Given the description of an element on the screen output the (x, y) to click on. 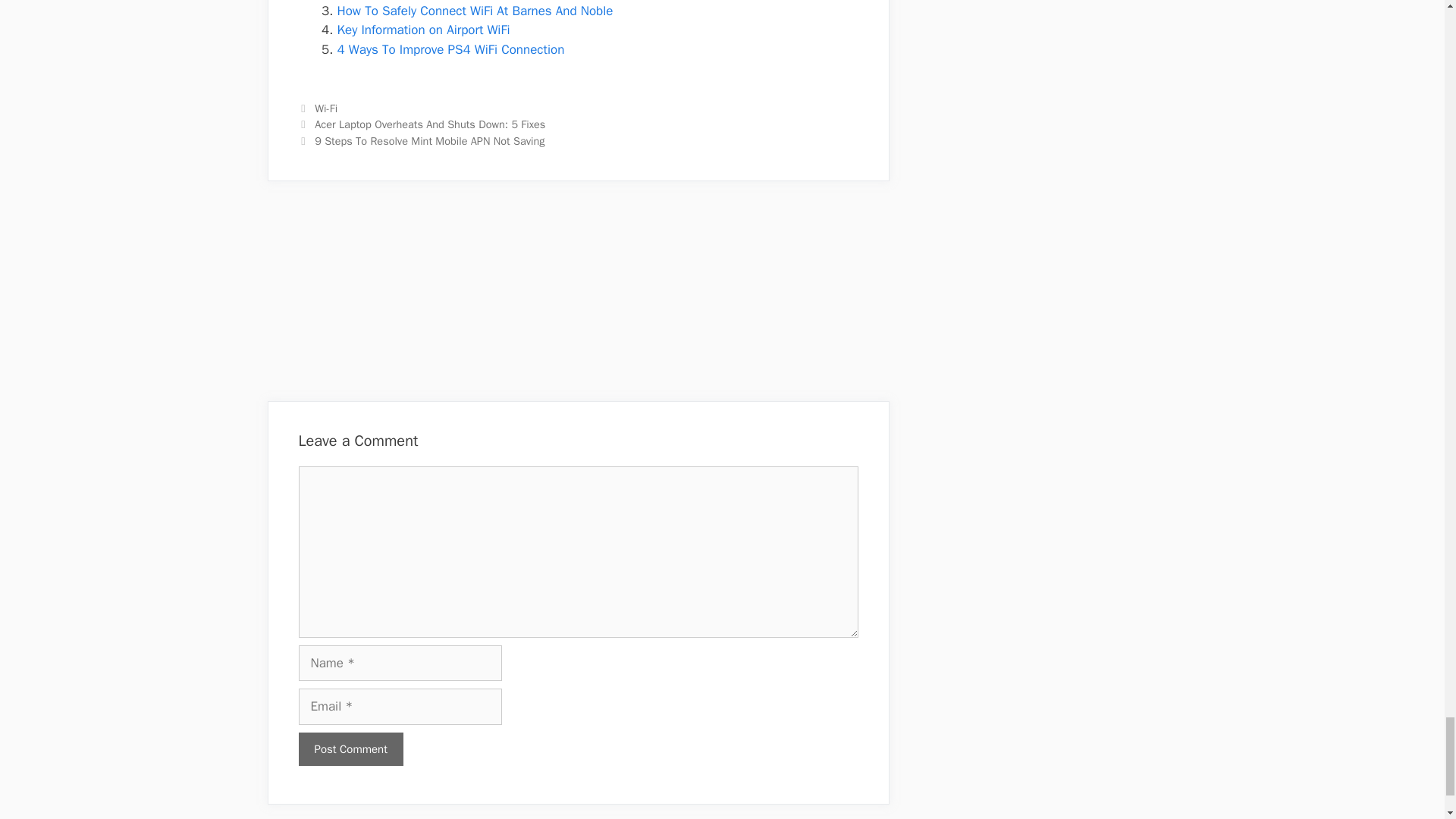
How To Safely Connect WiFi At Barnes And Noble (474, 10)
Next (421, 141)
Key Information on Airport WiFi (422, 29)
Post Comment (350, 749)
Previous (422, 124)
4 Ways To Improve PS4 WiFi Connection (450, 49)
